Given the description of an element on the screen output the (x, y) to click on. 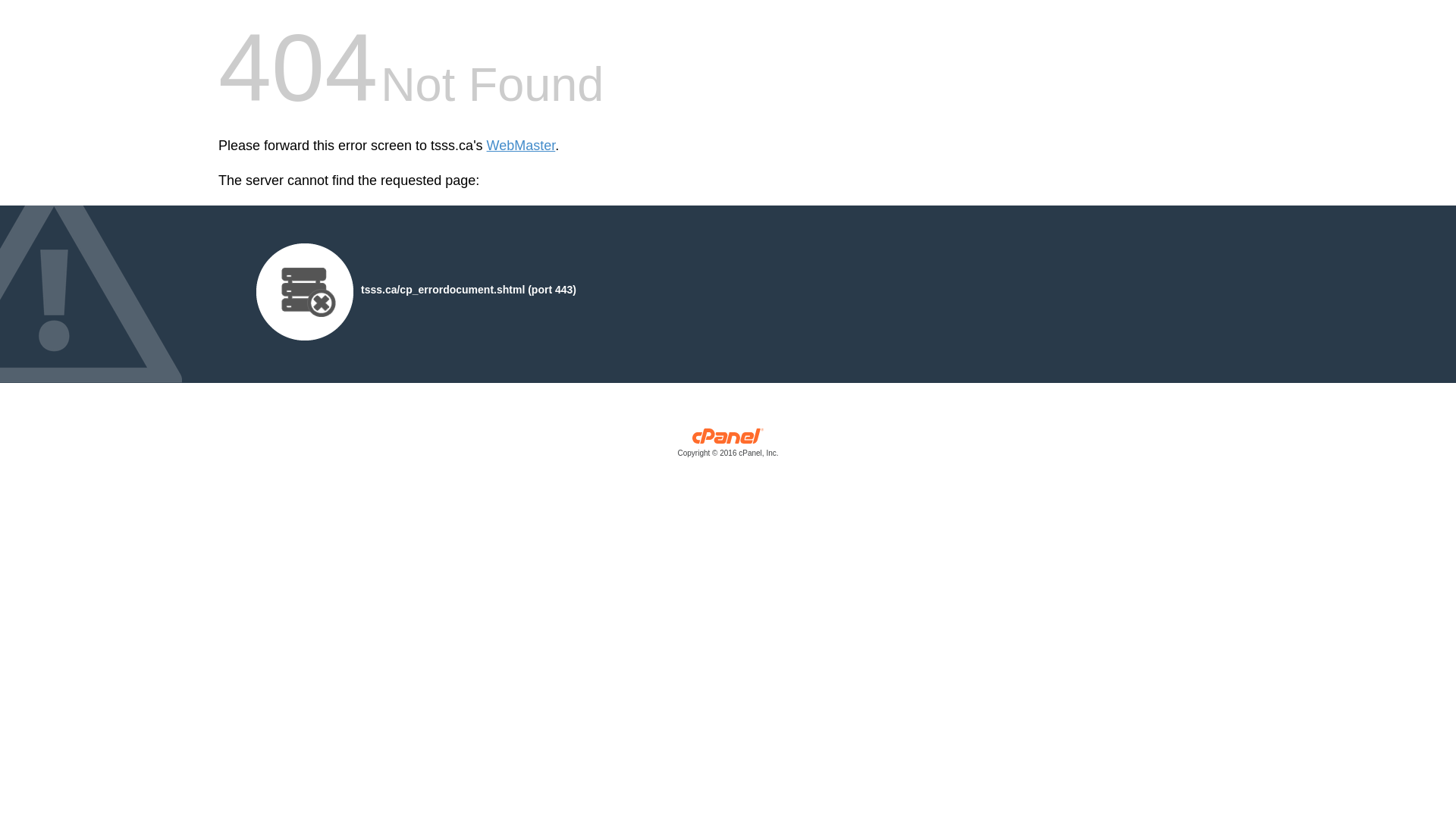
WebMaster (521, 145)
cPanel, Inc. (727, 446)
